Given the description of an element on the screen output the (x, y) to click on. 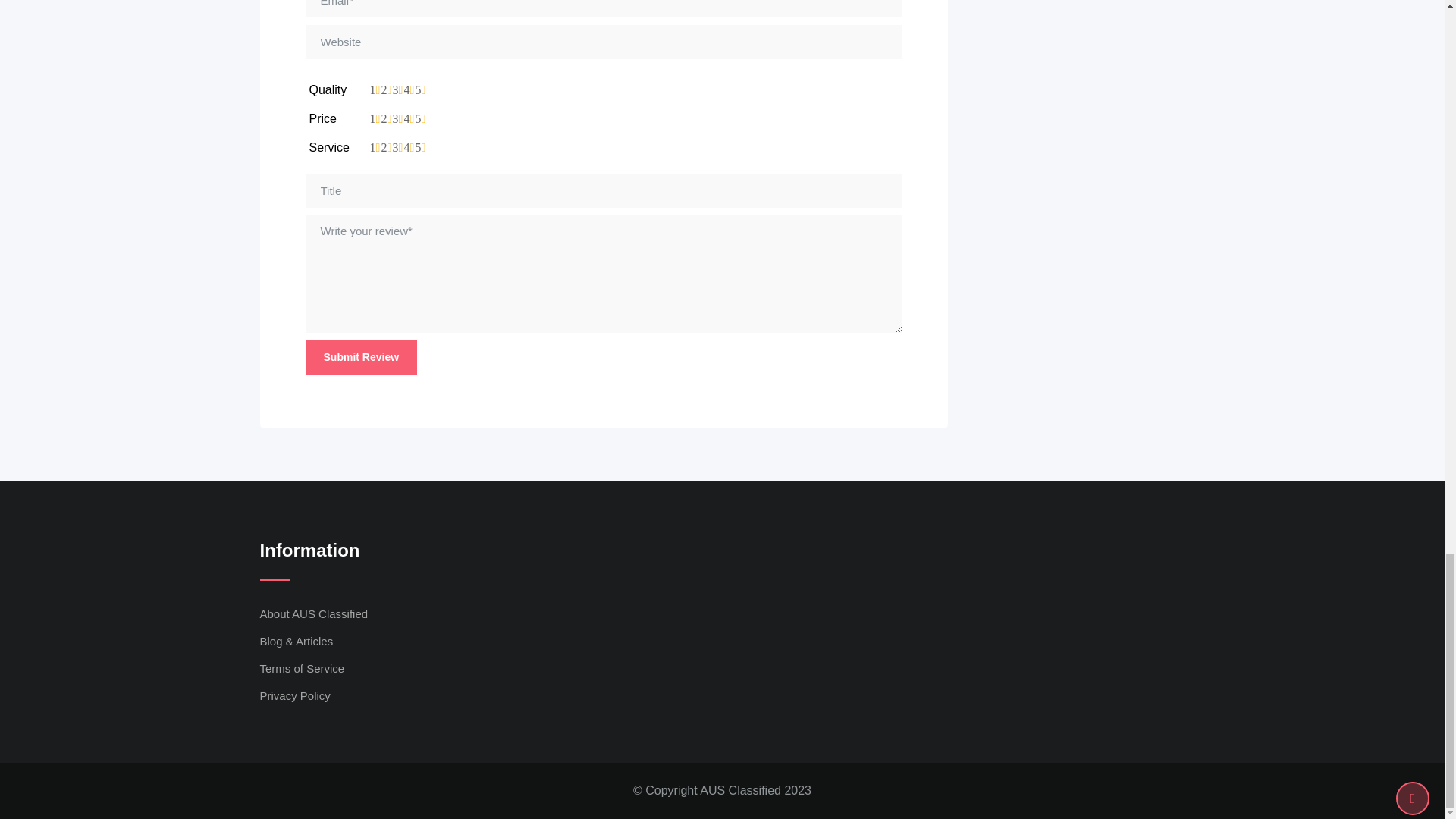
Submit Review (360, 357)
